Given the description of an element on the screen output the (x, y) to click on. 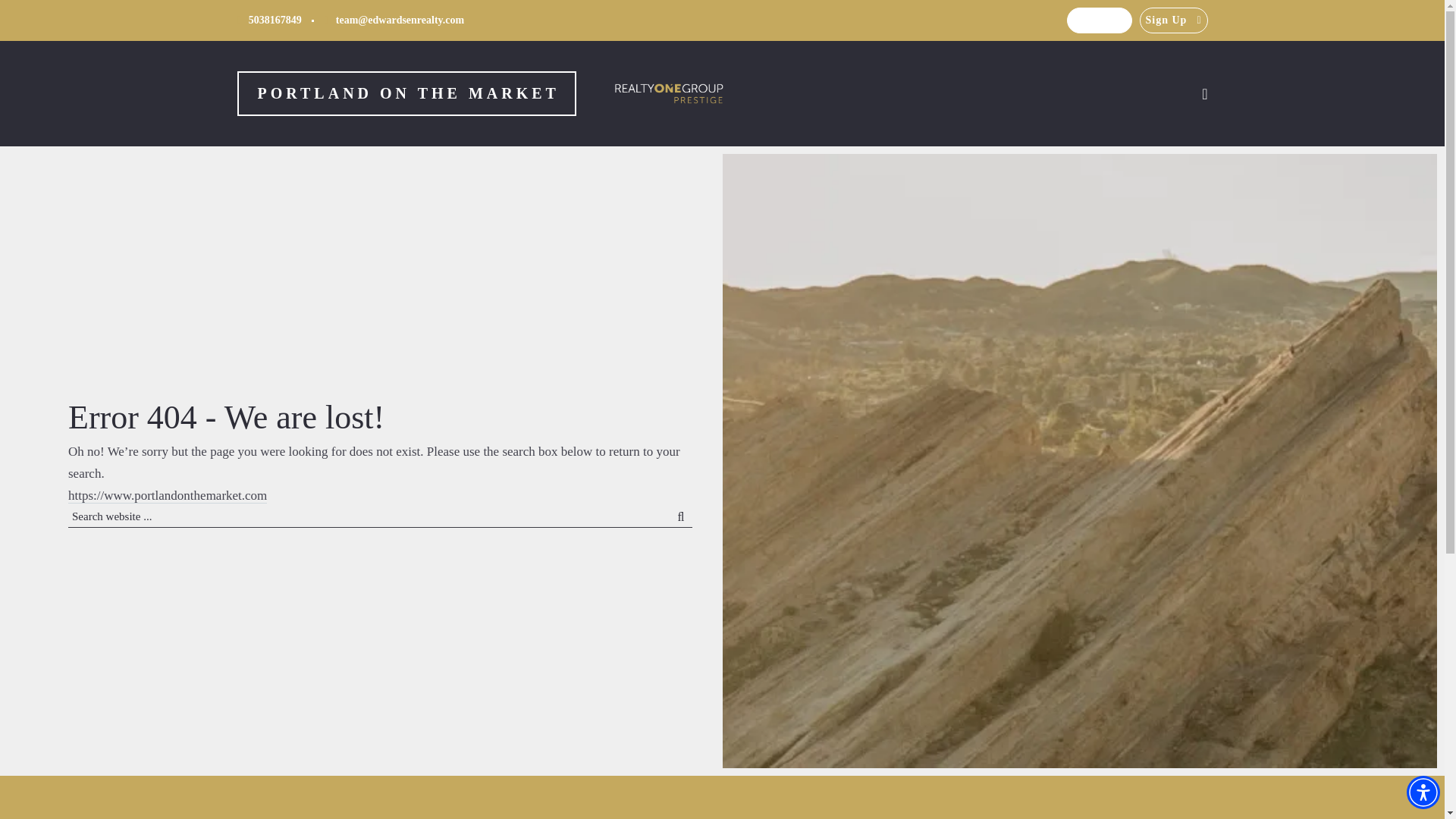
5038167849 (268, 19)
Homepage (405, 93)
Sign In (1099, 20)
Sign Up (1174, 20)
Sign Up (1174, 20)
Homepage (669, 94)
Accessibility Menu (1422, 792)
PORTLAND ON THE MARKET (405, 93)
5038167849 (268, 19)
Sign In (1099, 20)
